Given the description of an element on the screen output the (x, y) to click on. 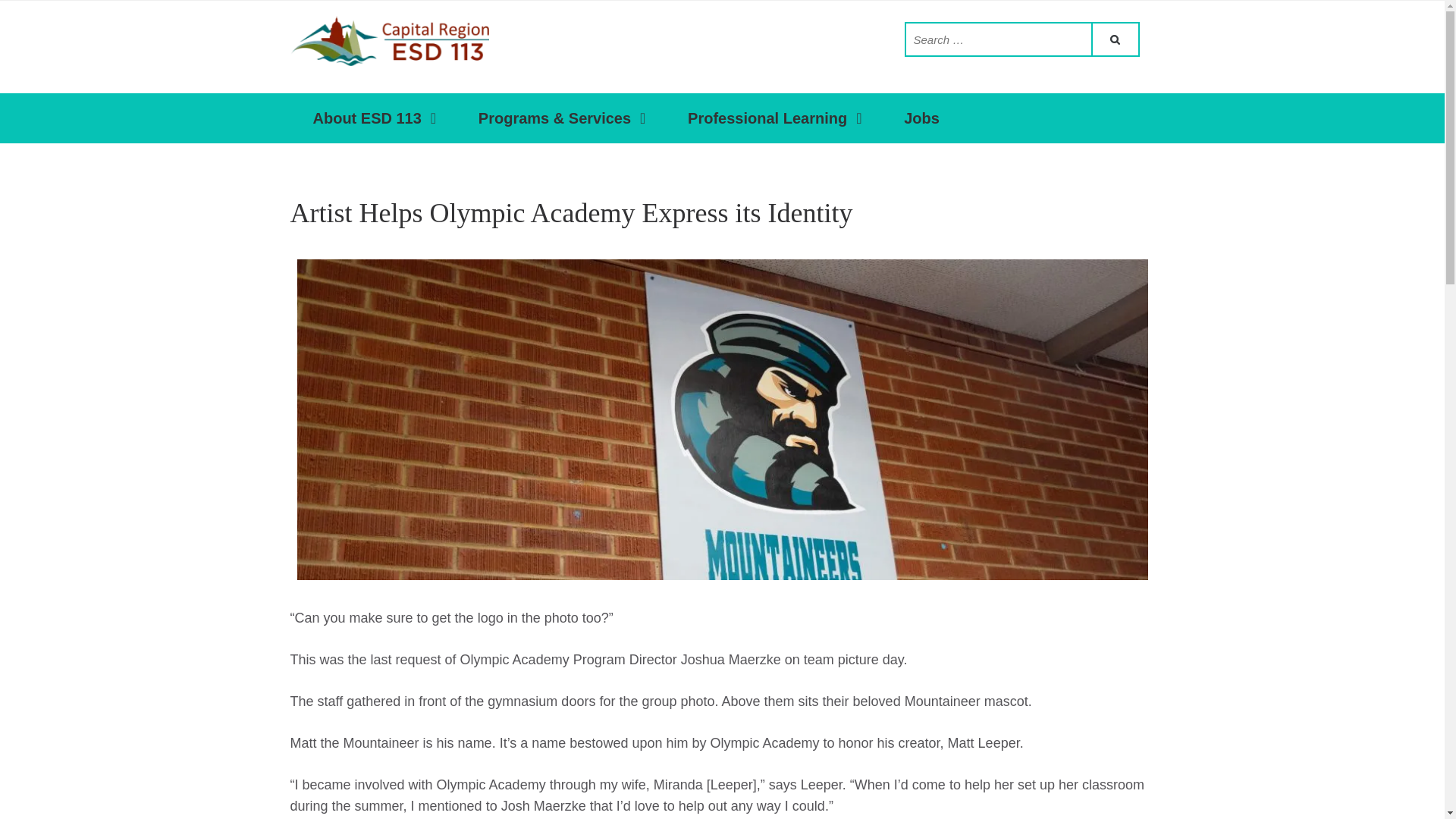
Search (1113, 39)
Search (1113, 39)
